Given the description of an element on the screen output the (x, y) to click on. 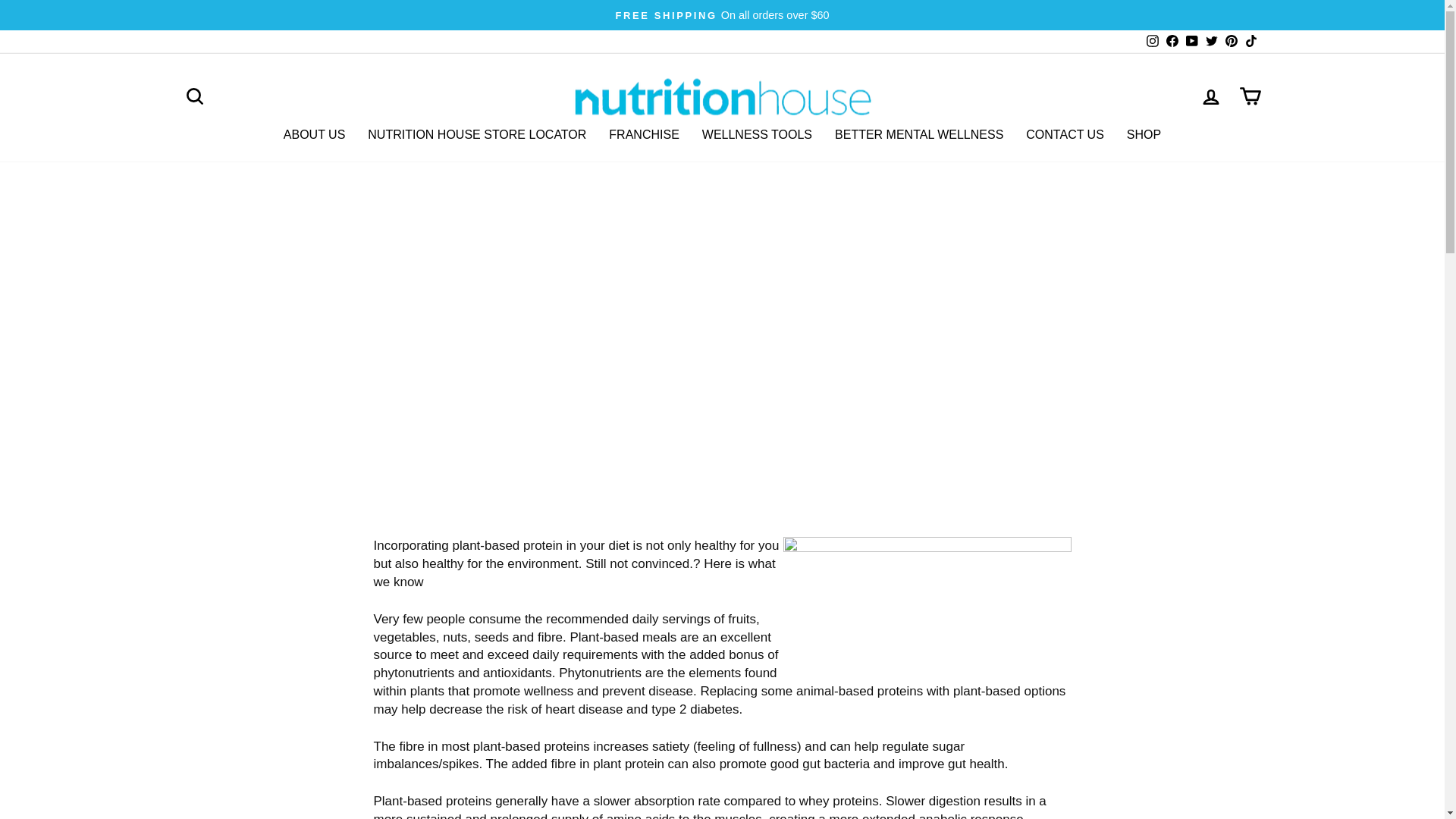
Back to the frontpage (654, 293)
